Given the description of an element on the screen output the (x, y) to click on. 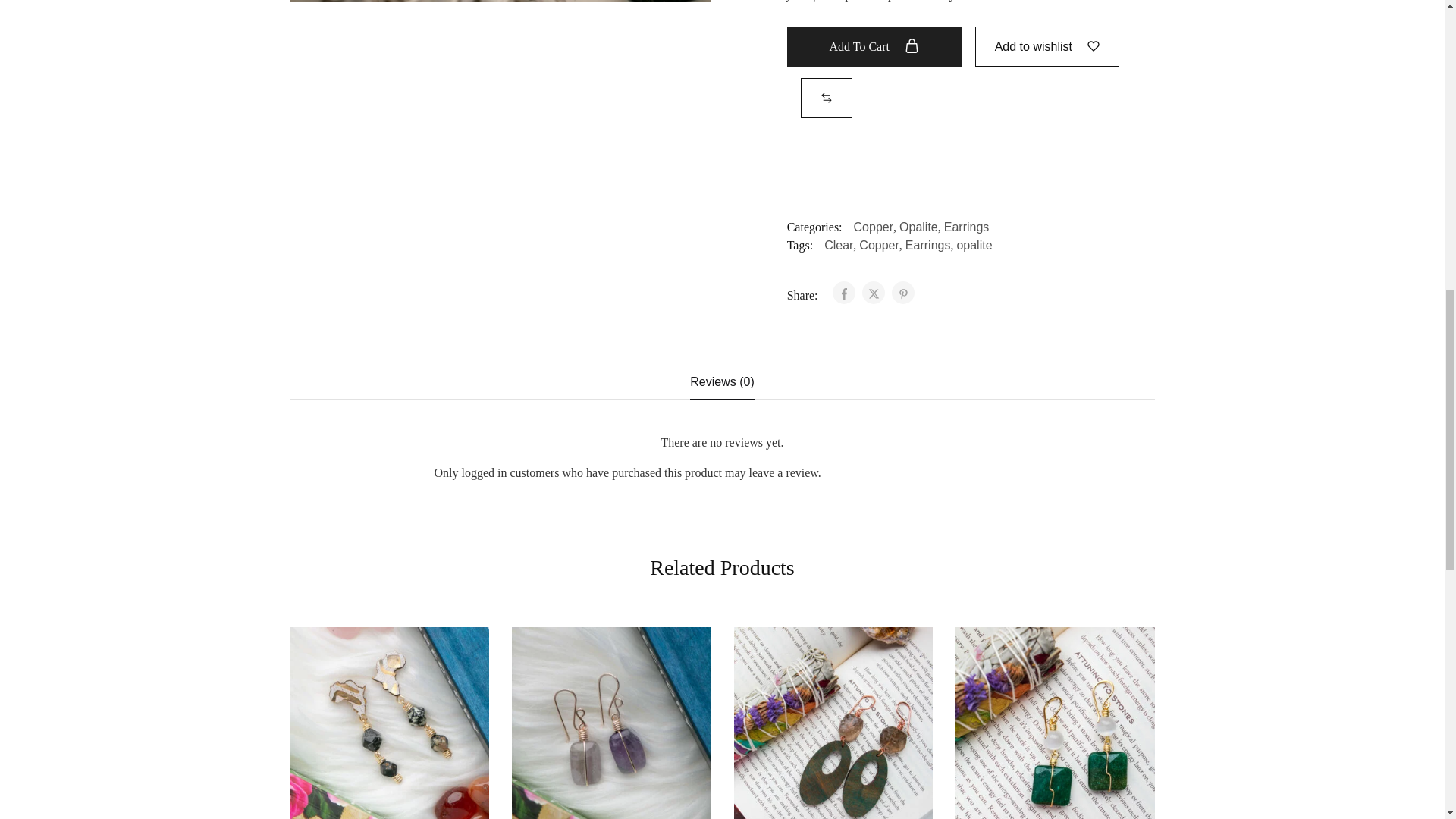
PayPal Message 1 (970, 137)
PayPal (970, 177)
